Given the description of an element on the screen output the (x, y) to click on. 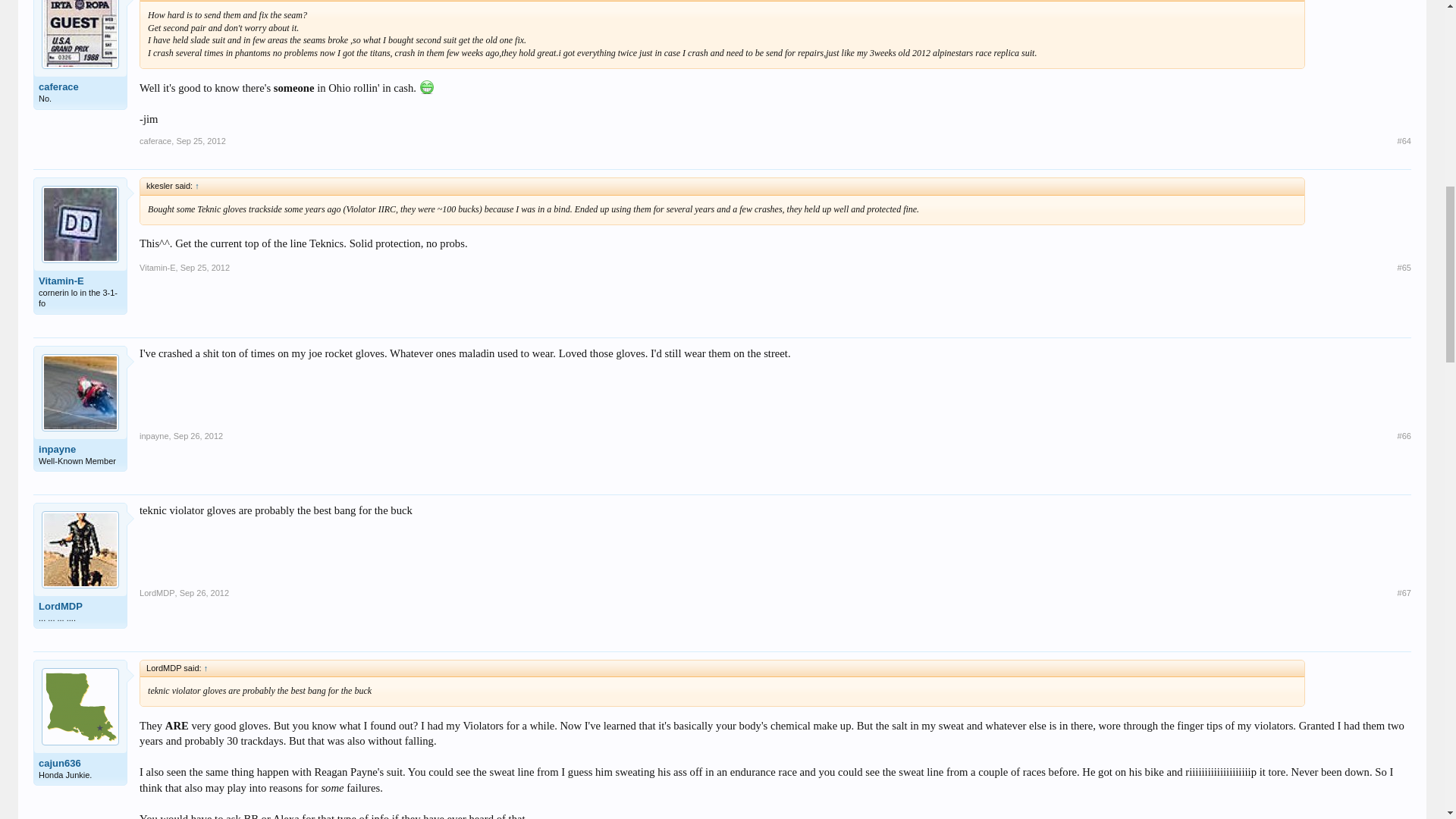
caferace (155, 140)
Big Grin    :D (426, 87)
Permalink (200, 140)
Permalink (205, 266)
caferace (80, 87)
Permalink (1403, 267)
Permalink (1403, 140)
